Given the description of an element on the screen output the (x, y) to click on. 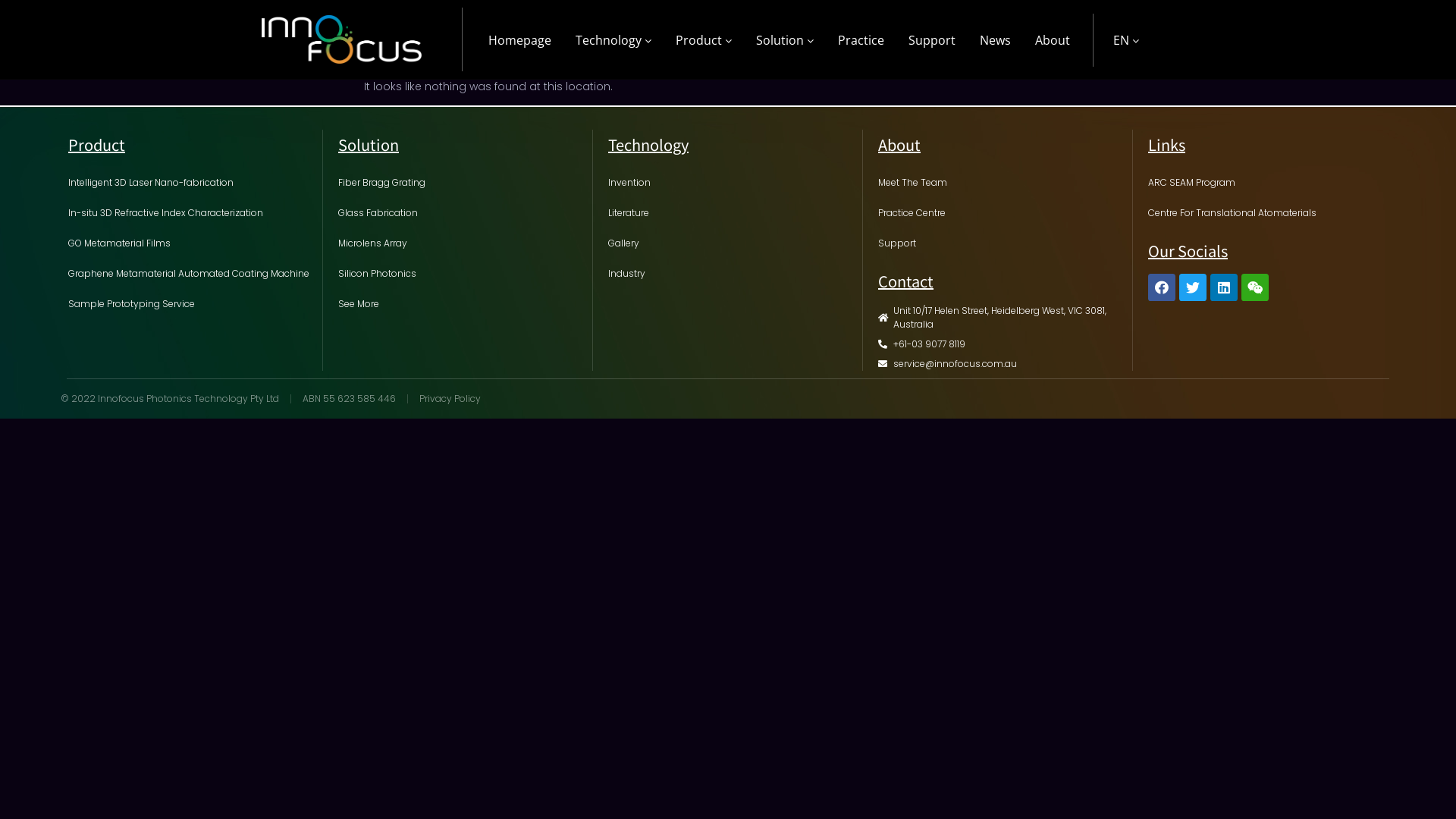
Graphene Metamaterial Automated Coating Machine Element type: text (191, 273)
Intelligent 3D Laser Nano-fabrication Element type: text (191, 182)
Glass Fabrication Element type: text (461, 212)
+61-03 9077 8119 Element type: text (1001, 344)
In-situ 3D Refractive Index Characterization Element type: text (191, 212)
See More Element type: text (461, 303)
Practice Element type: text (860, 39)
News Element type: text (995, 39)
Centre For Translational Atomaterials Element type: text (1271, 212)
Silicon Photonics Element type: text (461, 273)
Solution Element type: text (784, 39)
GO Metamaterial Films Element type: text (191, 243)
Privacy Policy Element type: text (449, 398)
Literature Element type: text (731, 212)
EN Element type: text (1125, 39)
Product Element type: text (703, 39)
Support Element type: text (1001, 243)
service@innofocus.com.au Element type: text (1001, 363)
Technology Element type: text (613, 39)
ARC SEAM Program Element type: text (1271, 182)
Industry Element type: text (731, 273)
Support Element type: text (931, 39)
Sample Prototyping Service Element type: text (191, 303)
Invention Element type: text (731, 182)
Fiber Bragg Grating Element type: text (461, 182)
Meet The Team Element type: text (1001, 182)
Microlens Array Element type: text (461, 243)
Homepage Element type: text (519, 39)
Gallery Element type: text (731, 243)
About Element type: text (1052, 39)
Practice Centre Element type: text (1001, 212)
